Given the description of an element on the screen output the (x, y) to click on. 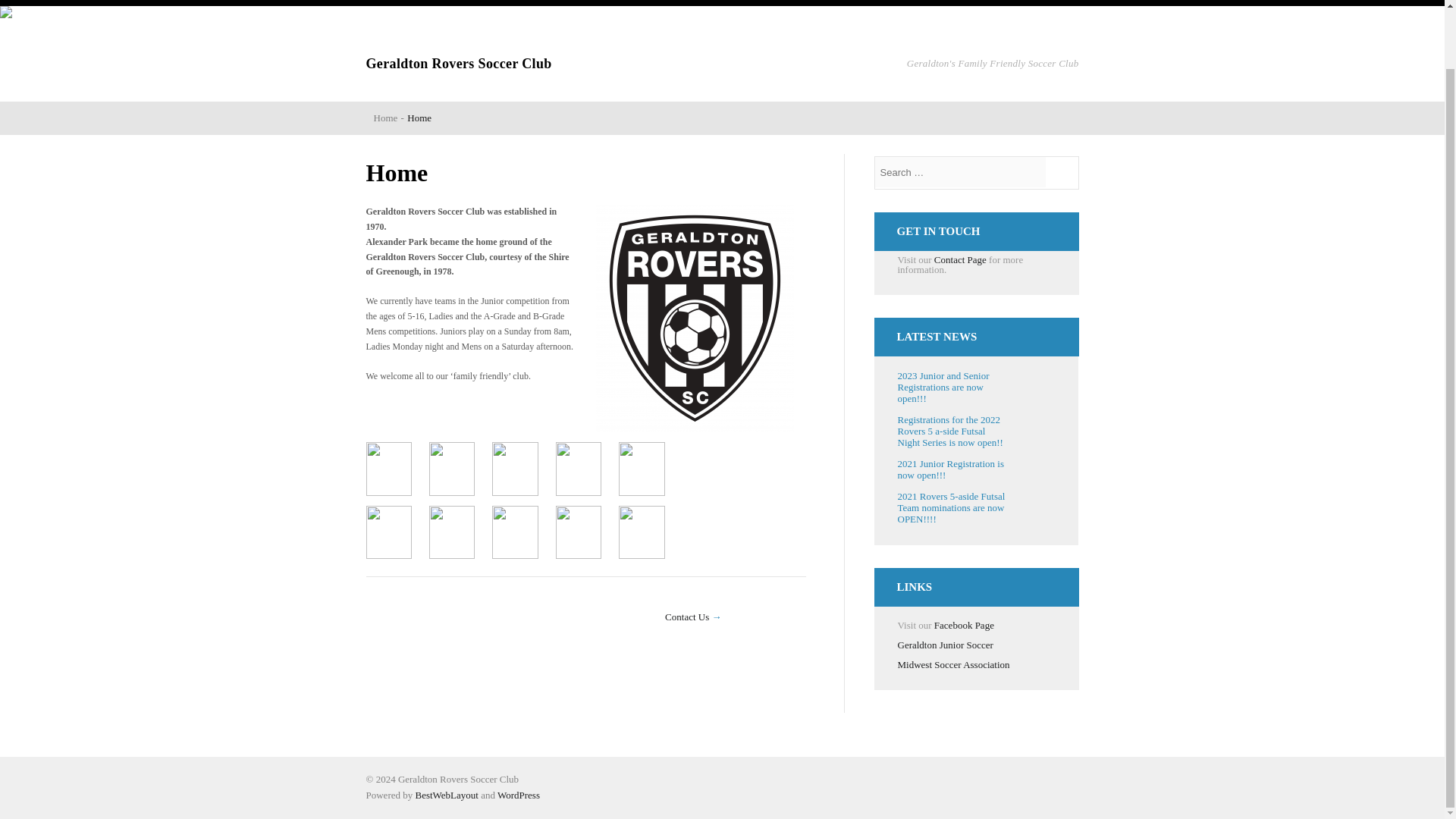
Search (1063, 172)
Facebook Page (964, 624)
Home (384, 117)
2023 Junior and Senior Registrations are now open!!! (944, 387)
BestWebLayout (446, 794)
Search (1063, 172)
Midwest Soccer Association (954, 664)
2021 Junior Registration is now open!!! (951, 468)
Contact Us (687, 616)
2021 Rovers 5-aside Futsal Team nominations are now OPEN!!!! (952, 507)
Geraldton Rovers Soccer Club (458, 63)
Search (1063, 172)
Geraldton Junior Soccer (945, 644)
Contact Page (960, 259)
